Given the description of an element on the screen output the (x, y) to click on. 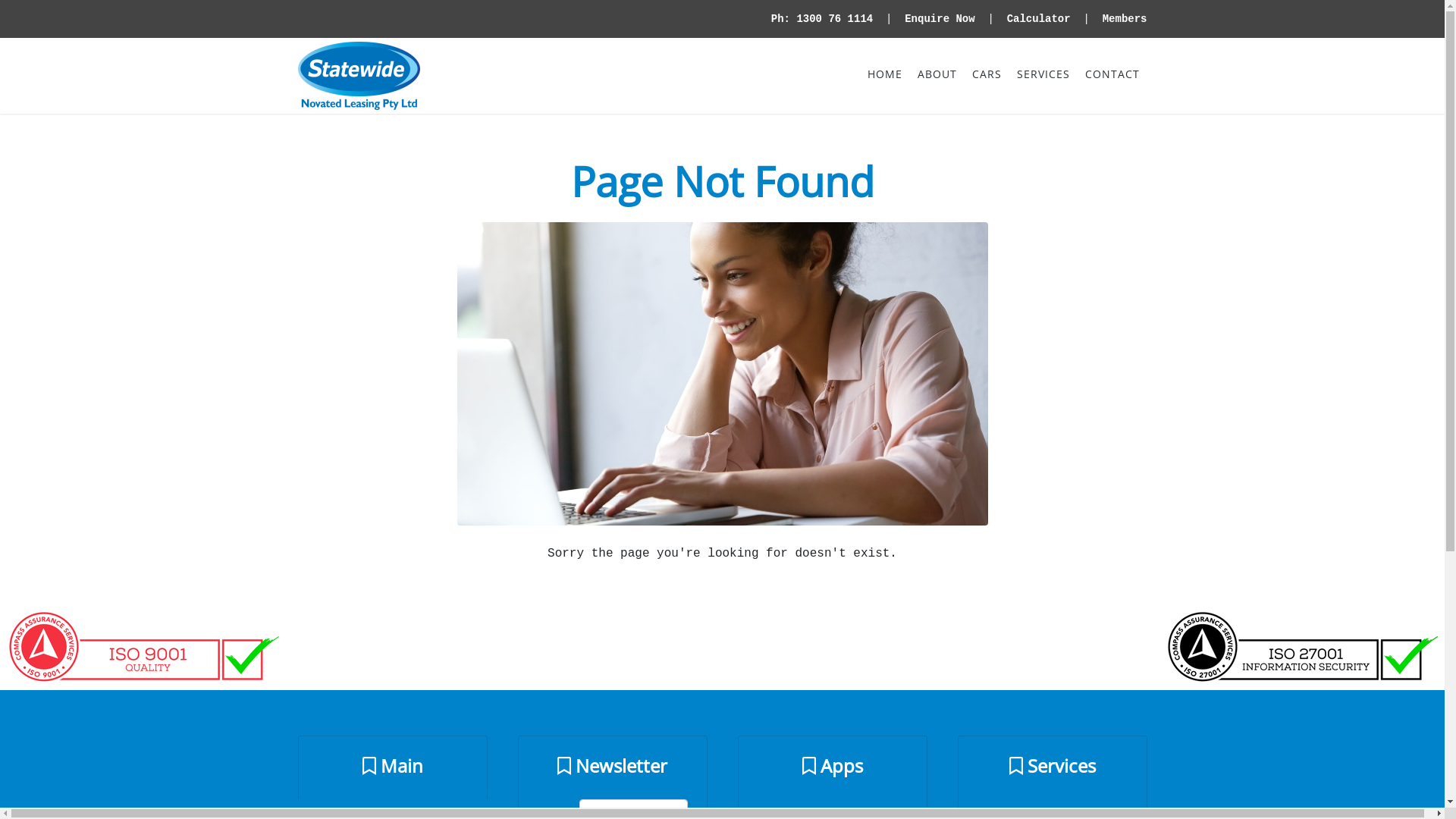
HOME Element type: text (884, 74)
Enquire Now Element type: text (939, 18)
Members Element type: text (1124, 18)
CONTACT Element type: text (1111, 74)
Calculator Element type: text (1038, 18)
ABOUT Element type: text (937, 74)
Ph: 1300 76 1114 Element type: text (821, 18)
CARS Element type: text (986, 74)
SERVICES Element type: text (1042, 74)
